Given the description of an element on the screen output the (x, y) to click on. 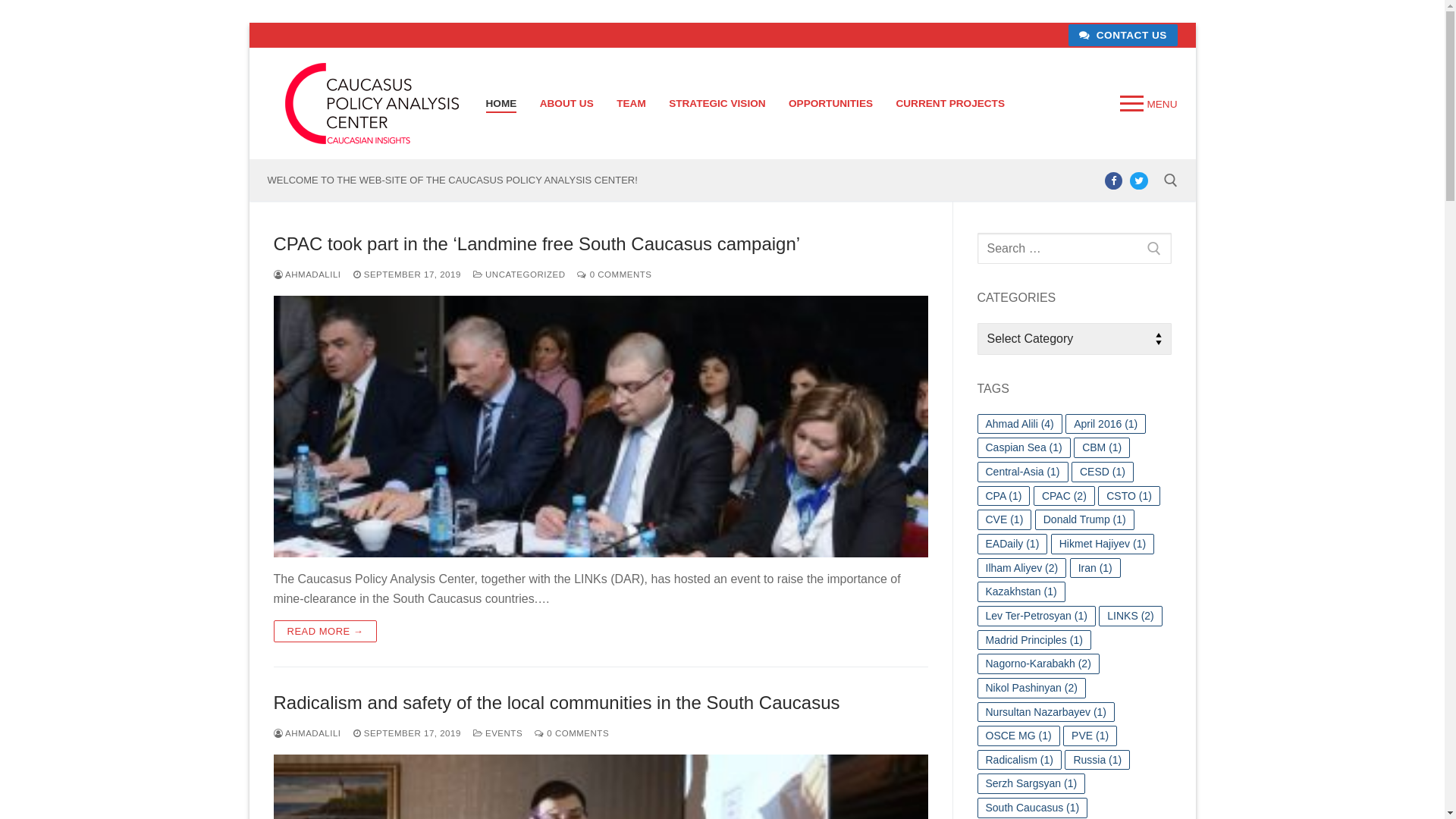
0 COMMENTS Element type: text (614, 274)
OPPORTUNITIES Element type: text (830, 103)
Madrid Principles (1) Element type: text (1033, 640)
CSTO (1) Element type: text (1129, 496)
STRATEGIC VISION Element type: text (716, 103)
Central-Asia (1) Element type: text (1021, 471)
Nikol Pashinyan (2) Element type: text (1030, 687)
MENU Element type: text (1148, 103)
Skip to content Element type: text (248, 21)
CURRENT PROJECTS Element type: text (949, 103)
AHMADALILI Element type: text (306, 732)
CESD (1) Element type: text (1102, 471)
AHMADALILI Element type: text (306, 274)
HOME Element type: text (501, 103)
Caspian Sea (1) Element type: text (1023, 447)
CVE (1) Element type: text (1003, 519)
Nagorno-Karabakh (2) Element type: text (1037, 663)
OSCE MG (1) Element type: text (1017, 735)
EADaily (1) Element type: text (1011, 543)
PVE (1) Element type: text (1090, 735)
Iran (1) Element type: text (1095, 568)
Russia (1) Element type: text (1096, 759)
CBM (1) Element type: text (1101, 447)
Search for: Element type: hover (1073, 248)
Nursultan Nazarbayev (1) Element type: text (1045, 712)
SEPTEMBER 17, 2019 Element type: text (407, 274)
CONTACT US Element type: text (1122, 34)
TEAM Element type: text (630, 103)
EVENTS Element type: text (497, 732)
Donald Trump (1) Element type: text (1084, 519)
Hikmet Hajiyev (1) Element type: text (1102, 543)
Twitter Element type: hover (1138, 180)
Kazakhstan (1) Element type: text (1020, 591)
Lev Ter-Petrosyan (1) Element type: text (1035, 615)
CPA (1) Element type: text (1002, 496)
Radicalism (1) Element type: text (1018, 759)
Ilham Aliyev (2) Element type: text (1021, 568)
Ahmad Alili (4) Element type: text (1018, 424)
0 COMMENTS Element type: text (571, 732)
Facebook Element type: hover (1113, 180)
ABOUT US Element type: text (566, 103)
CPAC (2) Element type: text (1064, 496)
SEPTEMBER 17, 2019 Element type: text (407, 732)
Serzh Sargsyan (1) Element type: text (1030, 783)
South Caucasus (1) Element type: text (1031, 807)
UNCATEGORIZED Element type: text (519, 274)
April 2016 (1) Element type: text (1105, 424)
LINKS (2) Element type: text (1129, 615)
